Given the description of an element on the screen output the (x, y) to click on. 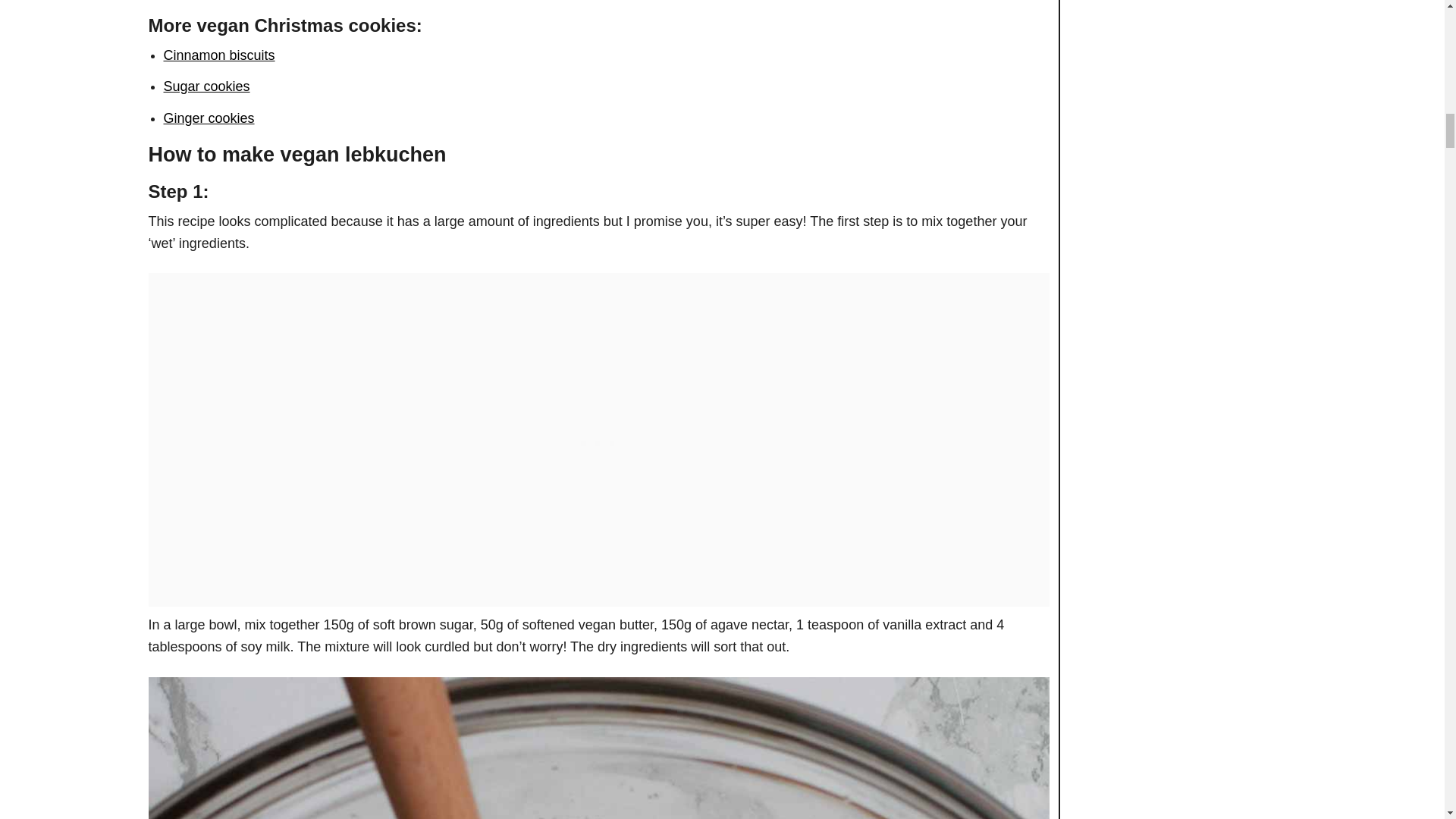
Sugar cookies (206, 86)
Ginger cookies (208, 118)
Cinnamon biscuits (219, 55)
